Given the description of an element on the screen output the (x, y) to click on. 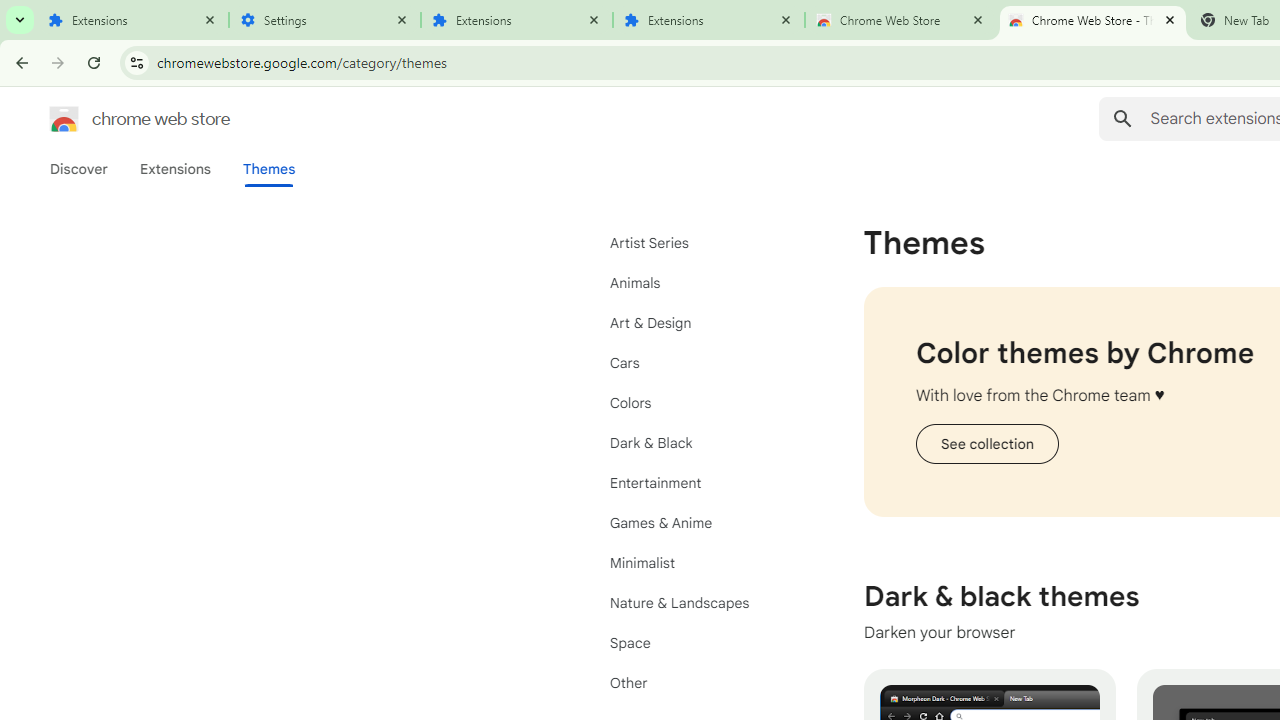
Animals (700, 282)
Settings (325, 20)
Nature & Landscapes (700, 602)
Art & Design (700, 322)
Minimalist (700, 562)
Extensions (709, 20)
Extensions (517, 20)
List of categories in Chrome Web Store. (700, 462)
Extensions (133, 20)
Space (700, 642)
Chrome Web Store (901, 20)
Other (700, 682)
